Given the description of an element on the screen output the (x, y) to click on. 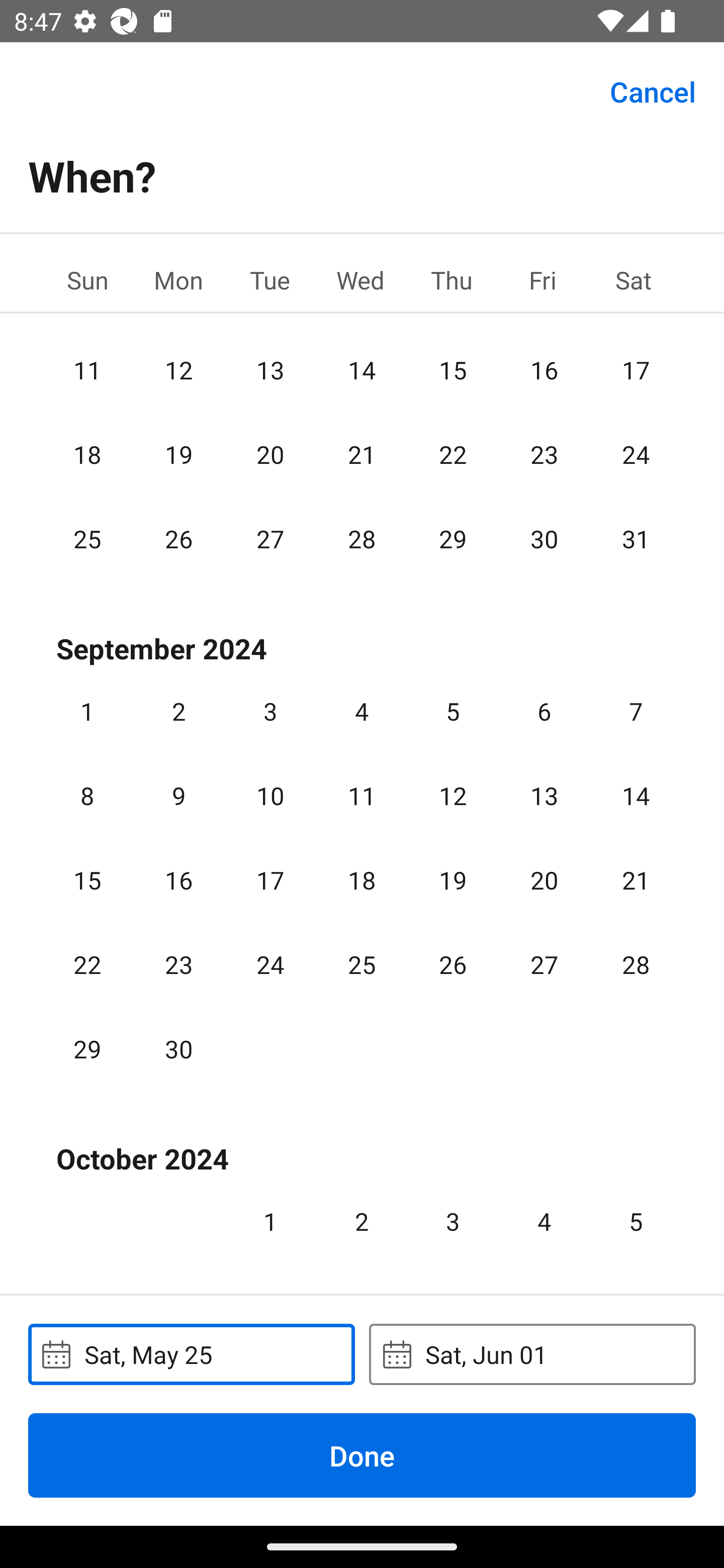
Cancel (652, 90)
Sat, May 25 (191, 1353)
Sat, Jun 01 (532, 1353)
Done (361, 1454)
